Given the description of an element on the screen output the (x, y) to click on. 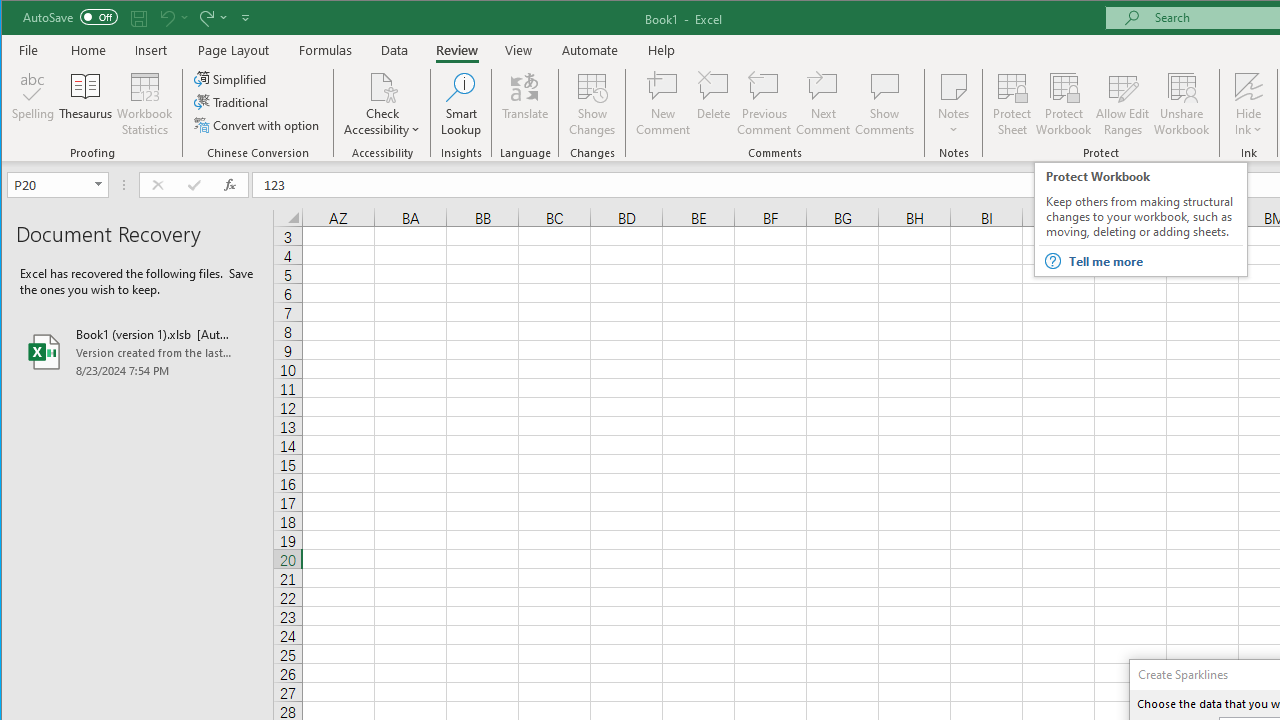
Convert with option (258, 124)
Book1 (version 1).xlsb  [AutoRecovered] (137, 352)
New Comment (662, 104)
Check Accessibility (381, 86)
Thesaurus... (86, 104)
Notes (954, 104)
Hide Ink (1248, 104)
Smart Lookup (461, 104)
Next Comment (822, 104)
